Given the description of an element on the screen output the (x, y) to click on. 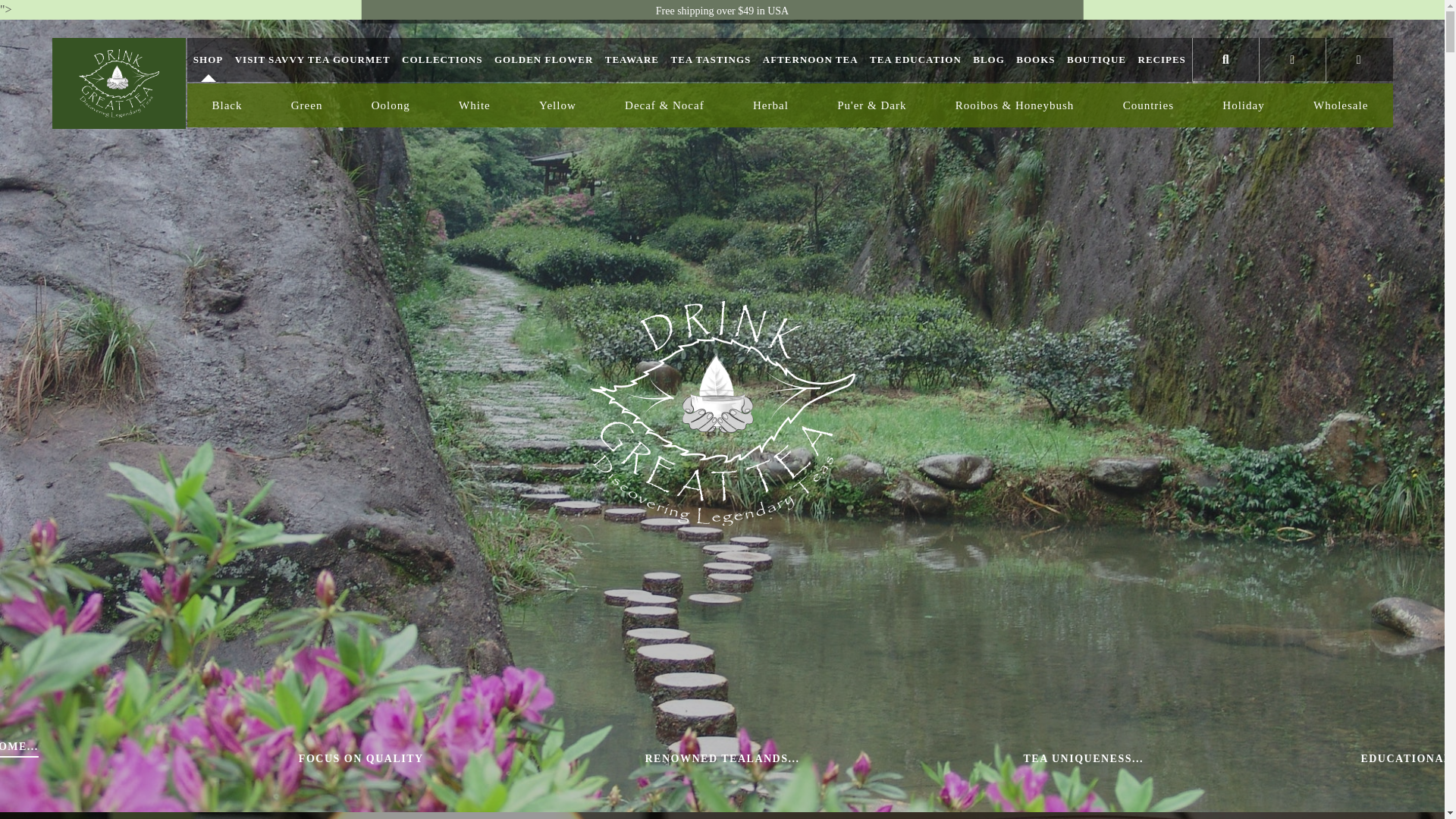
Meta Pay (988, 755)
Apple Pay (918, 755)
Drink Great Tea on Facebook (380, 764)
Drink Great Tea on Instagram (421, 764)
American Express (883, 755)
Google Pay (1022, 755)
Mastercard (1057, 755)
Visa (1057, 778)
Oolong (390, 105)
Shop Pay (1022, 778)
Discover (953, 755)
Yellow (557, 105)
